Given the description of an element on the screen output the (x, y) to click on. 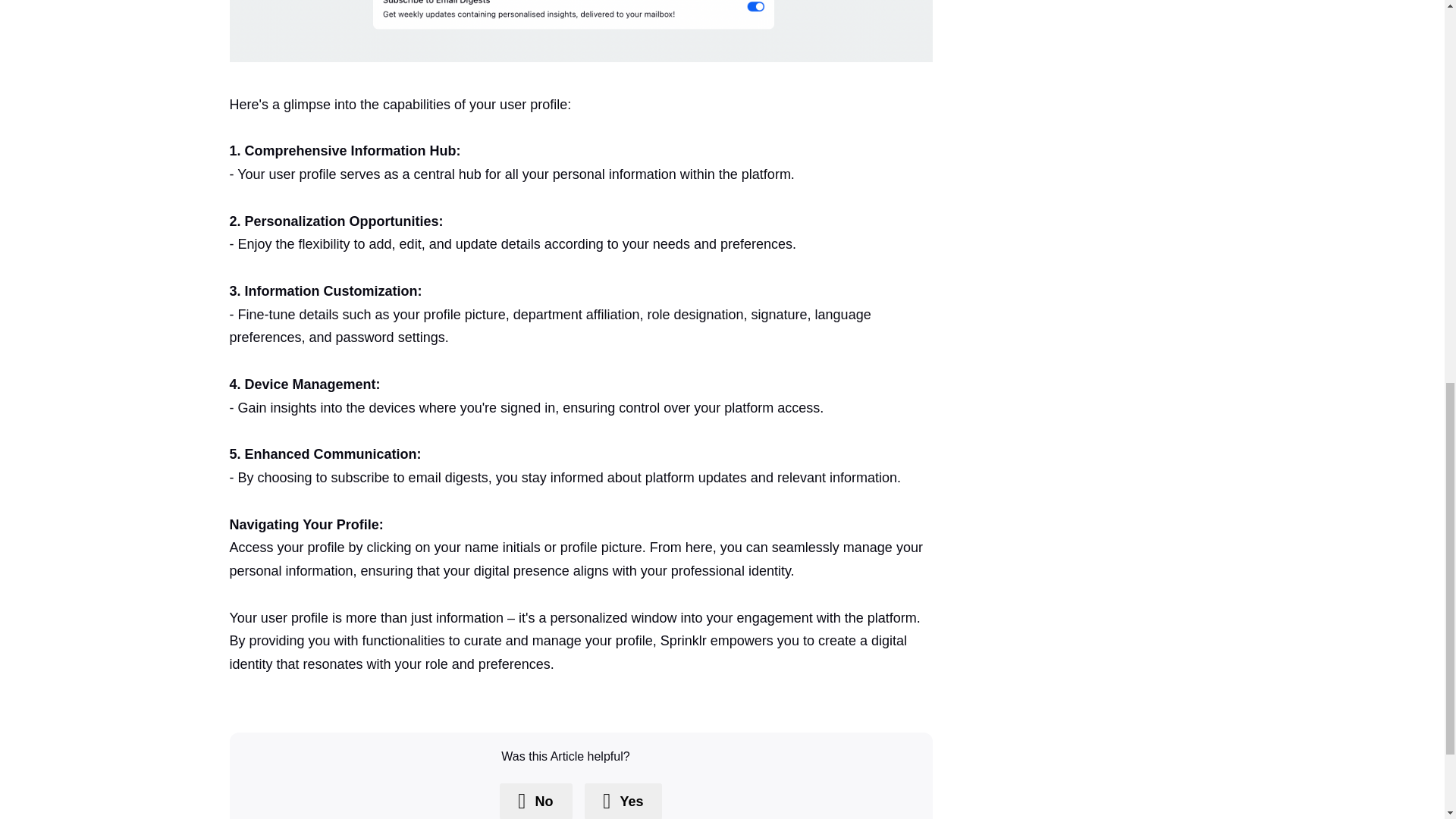
No (535, 800)
Yes (623, 800)
